Given the description of an element on the screen output the (x, y) to click on. 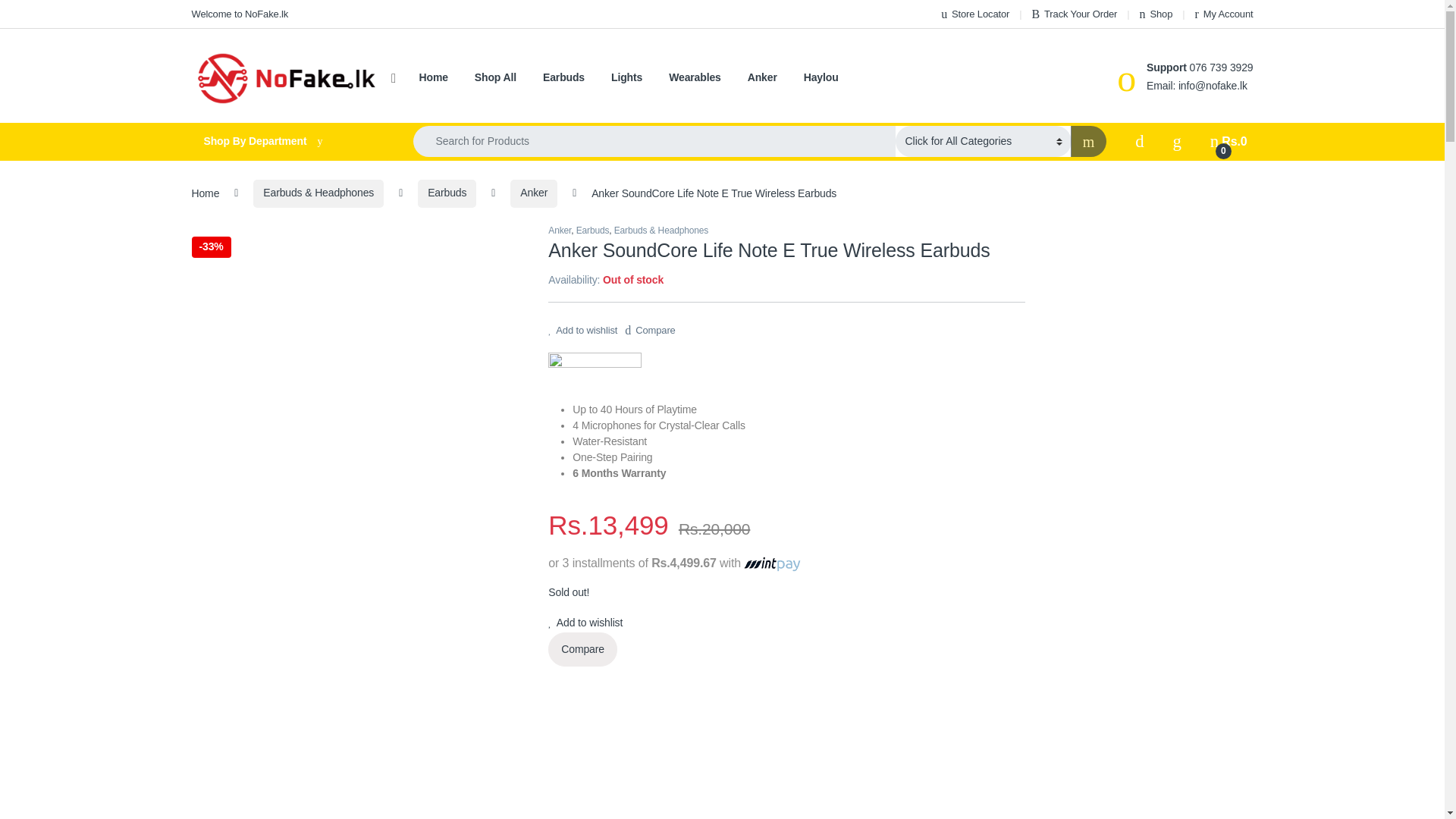
Welcome to NoFake.lk (239, 13)
Track Your Order (1073, 13)
Store Locator (974, 13)
Store Locator (974, 13)
My Account (1224, 13)
Track Your Order (1073, 13)
Shop (1156, 13)
My Account (1224, 13)
Welcome to NoFake.lk (239, 13)
Shop (1156, 13)
